Given the description of an element on the screen output the (x, y) to click on. 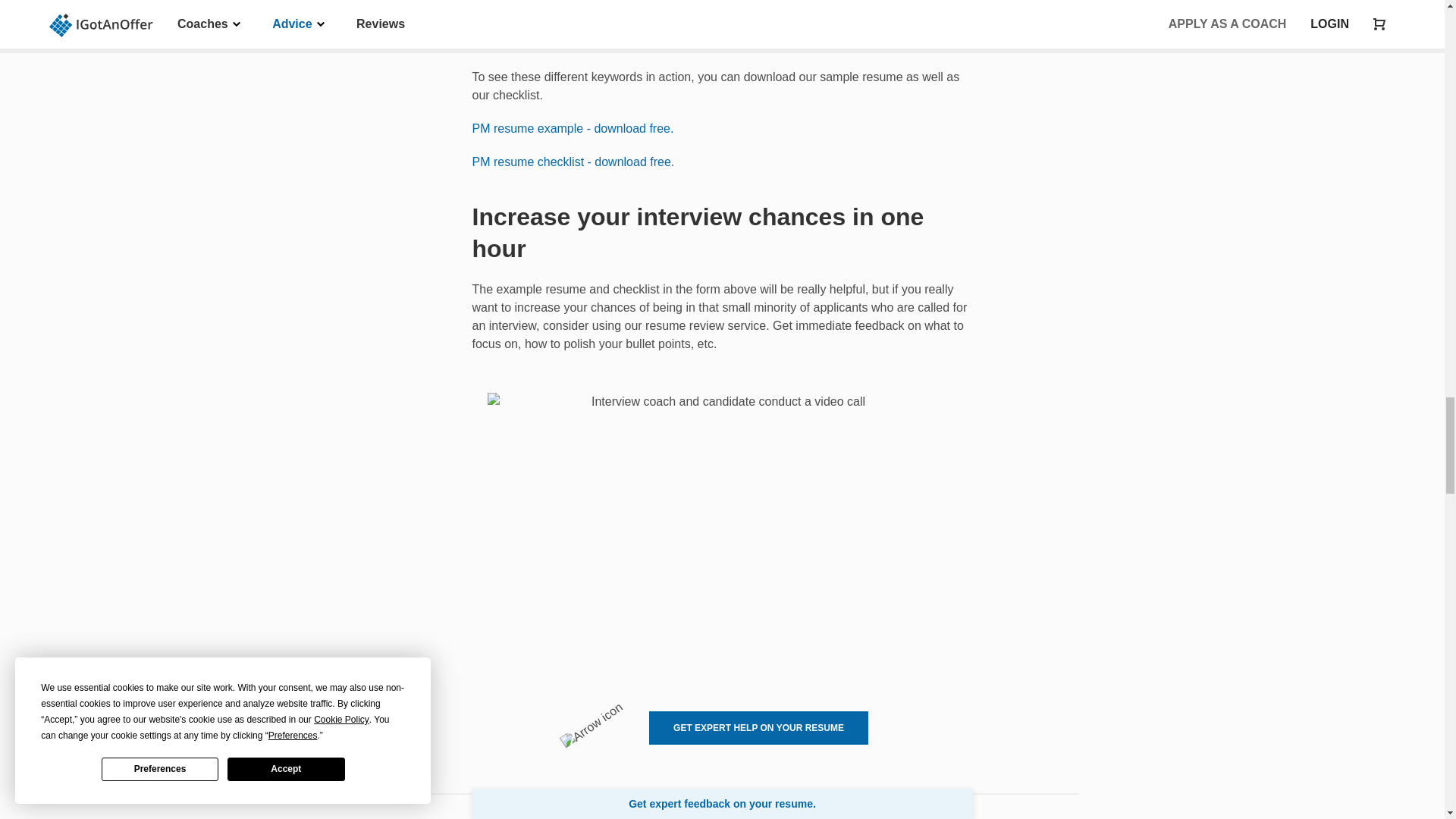
PM resume checklist (570, 161)
PM resume example (571, 128)
